Given the description of an element on the screen output the (x, y) to click on. 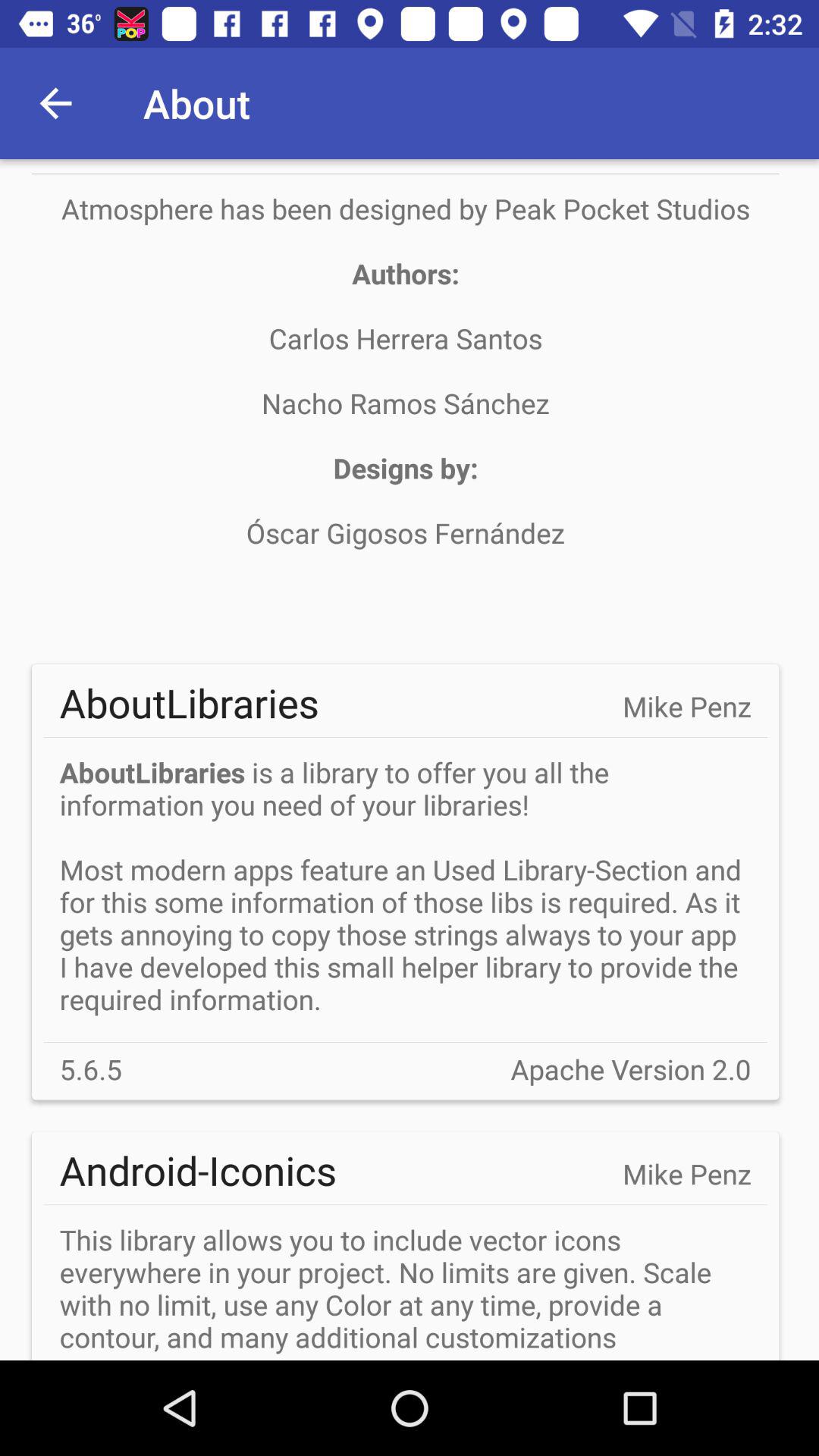
choose the atmosphere has been icon (405, 403)
